Given the description of an element on the screen output the (x, y) to click on. 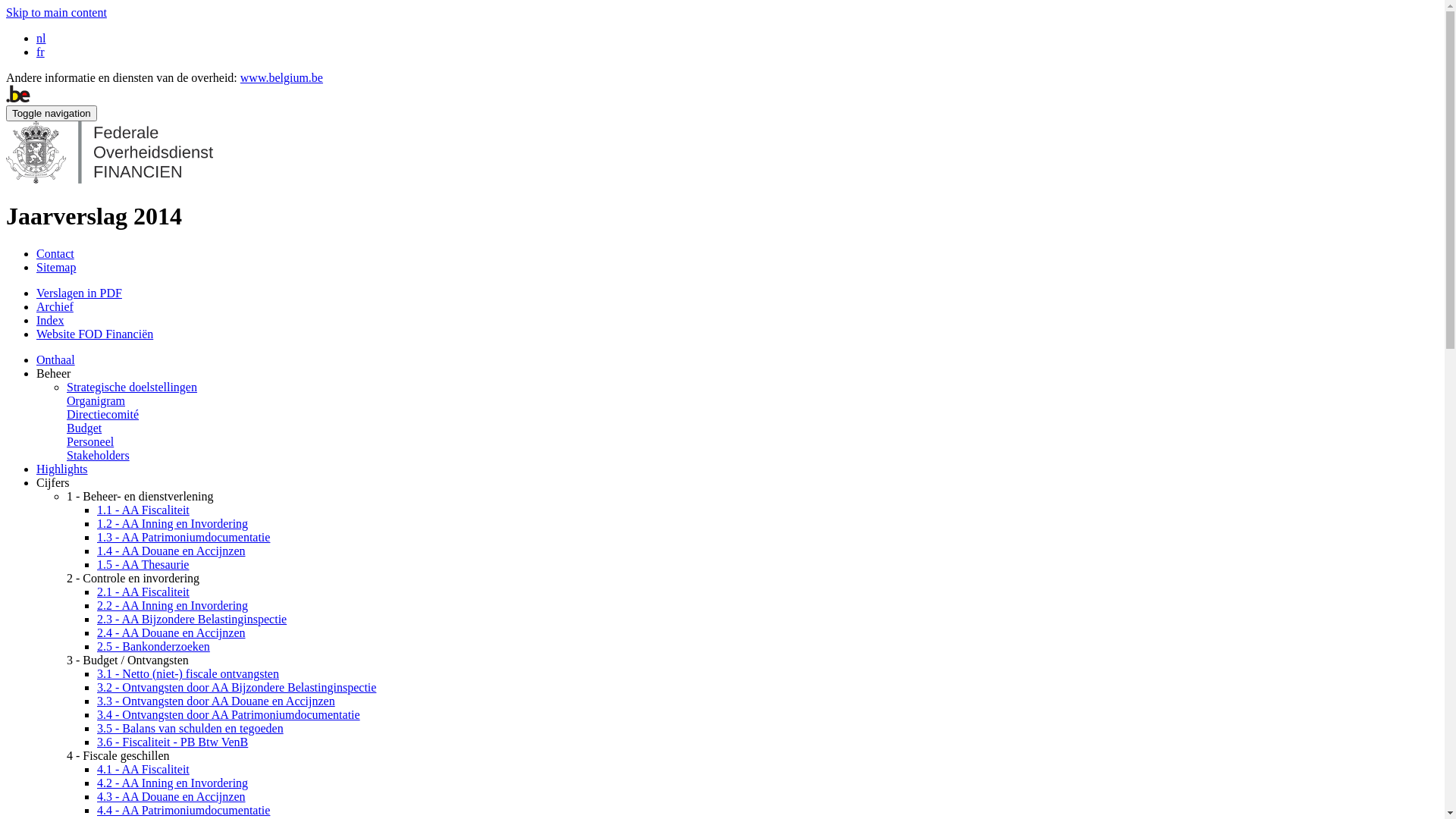
4.1 - AA Fiscaliteit Element type: text (143, 768)
Archief Element type: text (54, 306)
Budget Element type: text (83, 427)
3.6 - Fiscaliteit - PB Btw VenB Element type: text (172, 741)
2.2 - AA Inning en Invordering Element type: text (172, 605)
3.1 - Netto (niet-) fiscale ontvangsten Element type: text (188, 673)
3.3 - Ontvangsten door AA Douane en Accijnzen Element type: text (216, 700)
Onthaal Element type: text (55, 359)
Verslagen in PDF Element type: text (79, 292)
2.3 - AA Bijzondere Belastinginspectie Element type: text (191, 618)
Sitemap Element type: text (55, 266)
Skip to main content Element type: text (56, 12)
nl Element type: text (40, 37)
Highlights Element type: text (61, 468)
Organigram Element type: text (95, 400)
1.3 - AA Patrimoniumdocumentatie Element type: text (183, 536)
4.2 - AA Inning en Invordering Element type: text (172, 782)
Home Element type: hover (109, 178)
fr Element type: text (40, 51)
Personeel Element type: text (89, 441)
4.4 - AA Patrimoniumdocumentatie Element type: text (183, 809)
2.1 - AA Fiscaliteit Element type: text (143, 591)
www.belgium.be Element type: text (281, 77)
Stakeholders Element type: text (97, 454)
Index Element type: text (49, 319)
3.5 - Balans van schulden en tegoeden Element type: text (190, 727)
Strategische doelstellingen Element type: text (131, 386)
1.1 - AA Fiscaliteit Element type: text (143, 509)
4.3 - AA Douane en Accijnzen Element type: text (171, 796)
2.4 - AA Douane en Accijnzen Element type: text (171, 632)
Contact Element type: text (55, 253)
1.5 - AA Thesaurie Element type: text (142, 564)
1.2 - AA Inning en Invordering Element type: text (172, 523)
3.4 - Ontvangsten door AA Patrimoniumdocumentatie Element type: text (228, 714)
2.5 - Bankonderzoeken Element type: text (153, 646)
3.2 - Ontvangsten door AA Bijzondere Belastinginspectie Element type: text (236, 686)
Toggle navigation Element type: text (51, 113)
1.4 - AA Douane en Accijnzen Element type: text (171, 550)
